Given the description of an element on the screen output the (x, y) to click on. 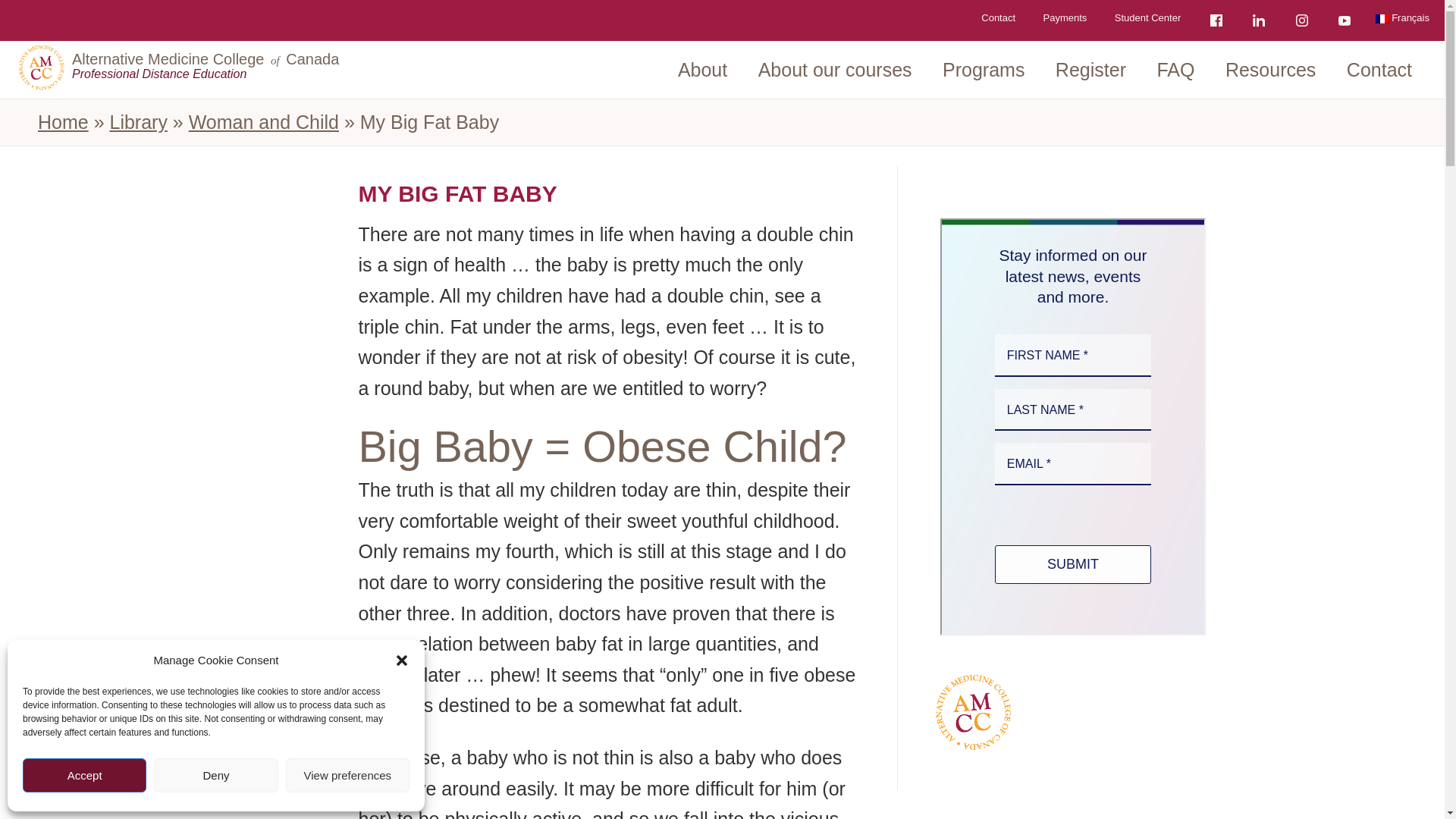
Deny (216, 775)
Accept (85, 775)
Student Center (1147, 17)
View preferences (347, 775)
Contact (998, 17)
Payments (1064, 17)
